Given the description of an element on the screen output the (x, y) to click on. 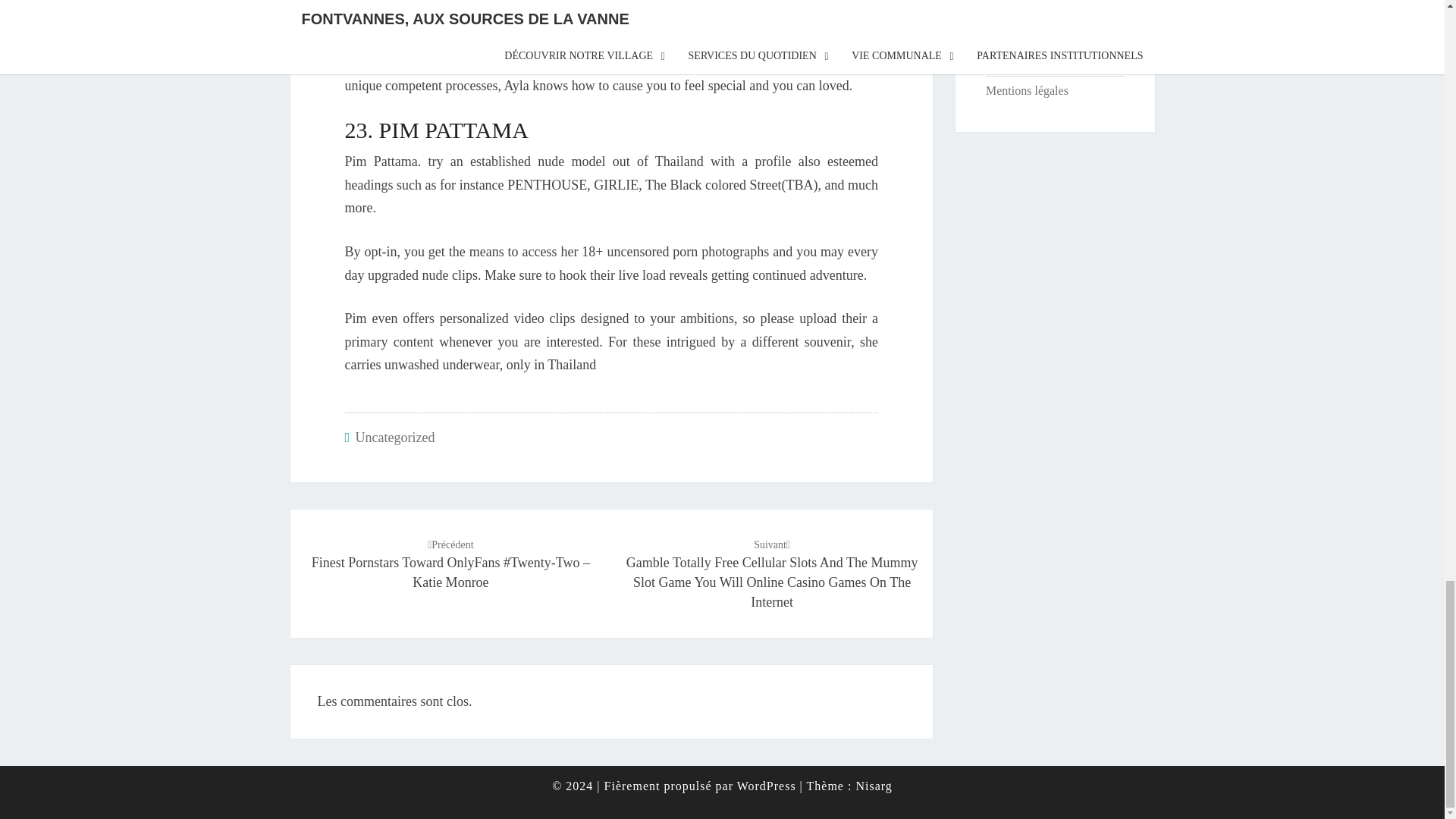
onlyfans milf creampie (610, 50)
Nisarg (873, 785)
Uncategorized (395, 437)
WordPress (766, 785)
